Given the description of an element on the screen output the (x, y) to click on. 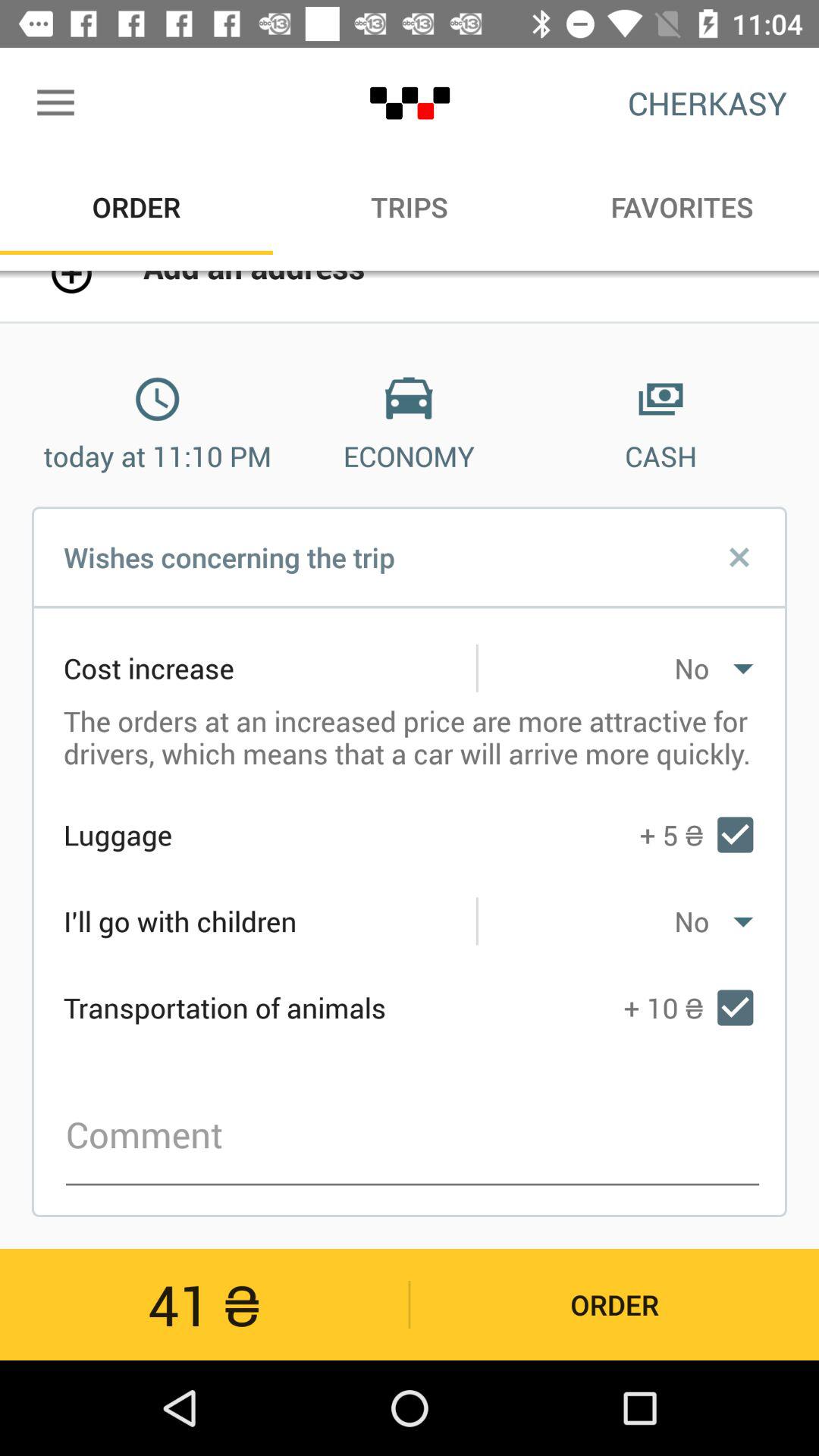
go to comment (412, 1135)
